Given the description of an element on the screen output the (x, y) to click on. 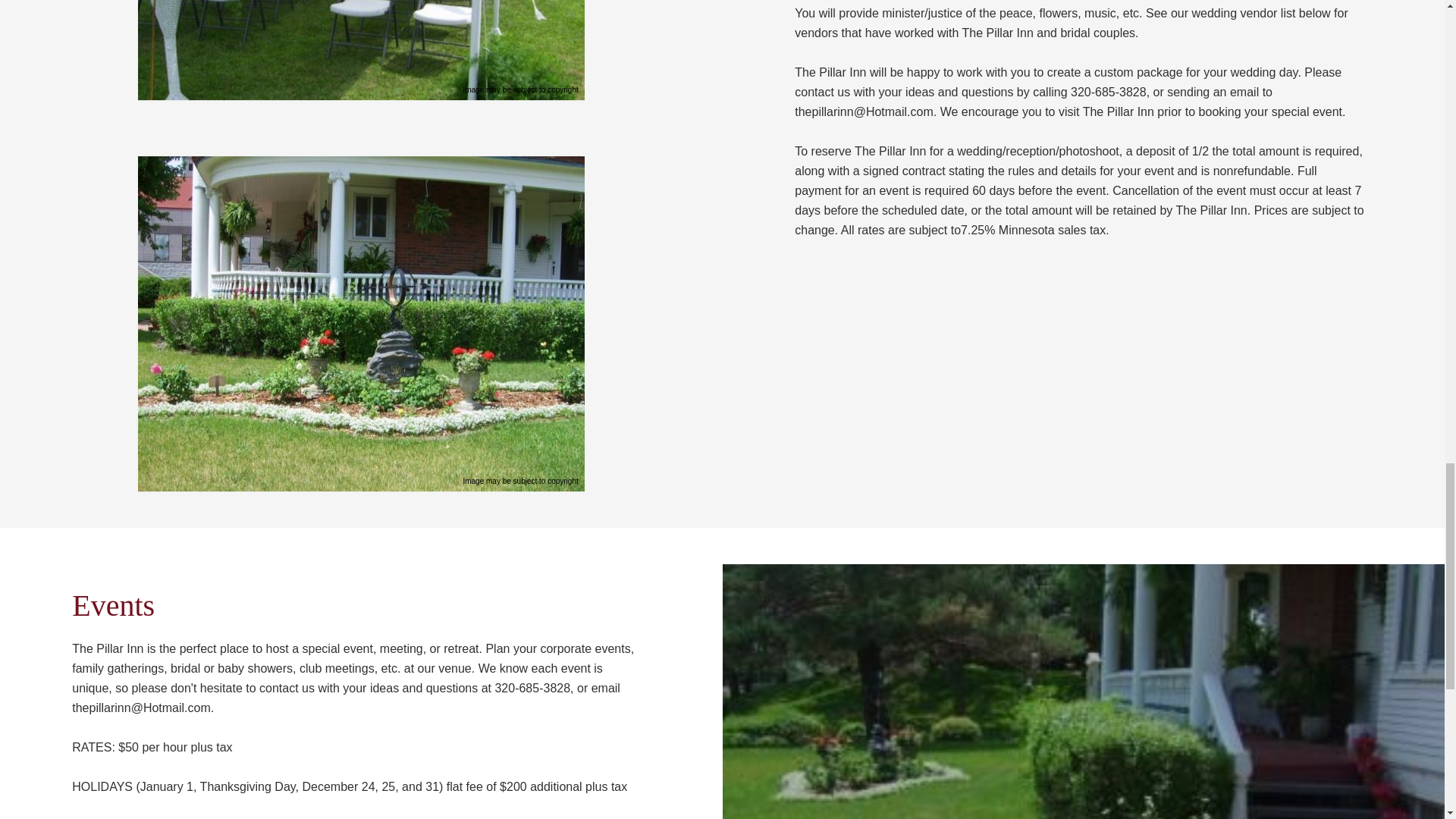
gazebo (361, 49)
